Given the description of an element on the screen output the (x, y) to click on. 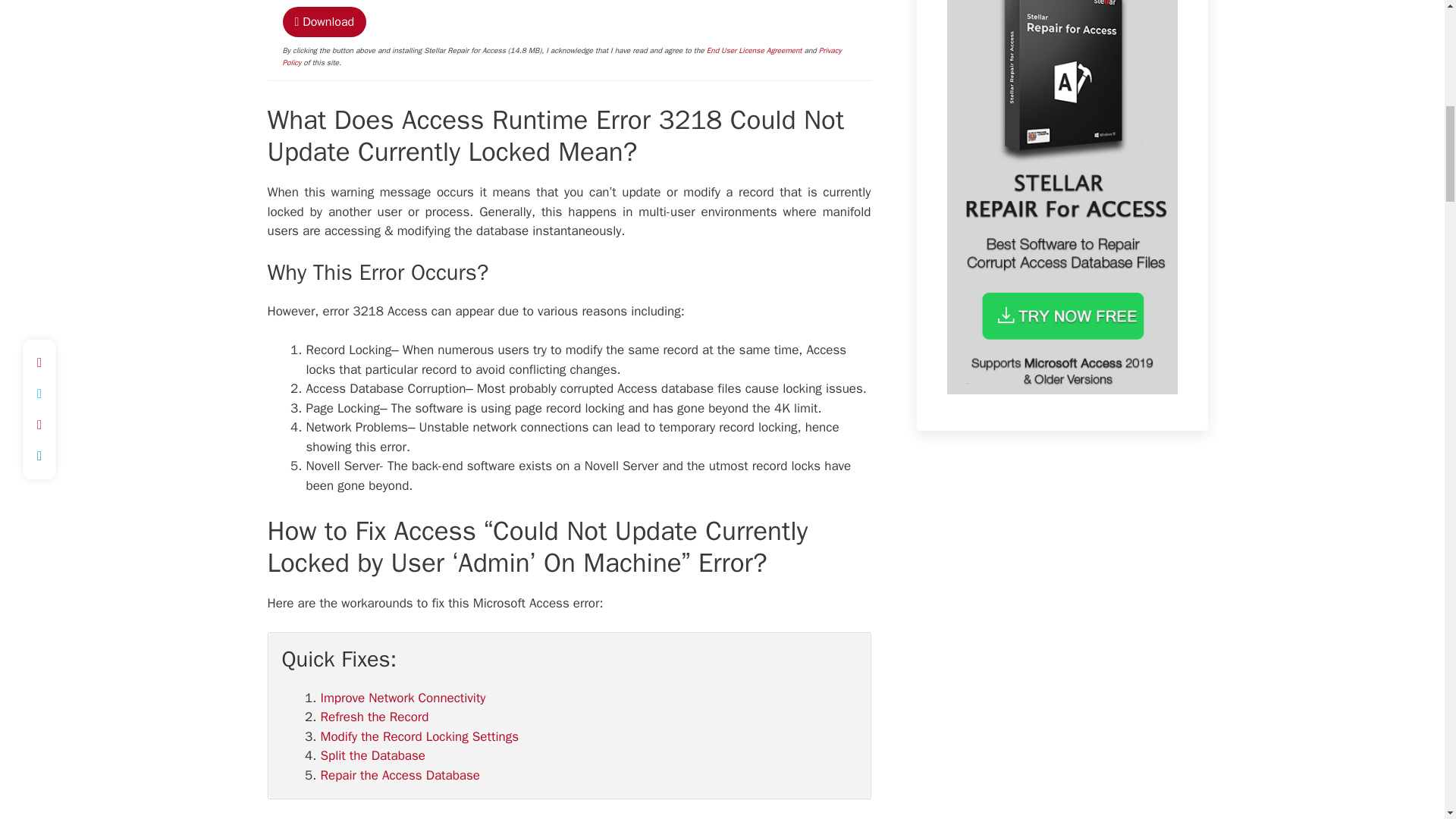
Split the Database (372, 755)
Refresh the Record (374, 716)
Privacy Policy (561, 56)
Improve Network Connectivity (402, 697)
Repair the Access Database (400, 774)
Download (324, 21)
Modify the Record Locking Settings (419, 736)
End User License Agreement (754, 50)
